Given the description of an element on the screen output the (x, y) to click on. 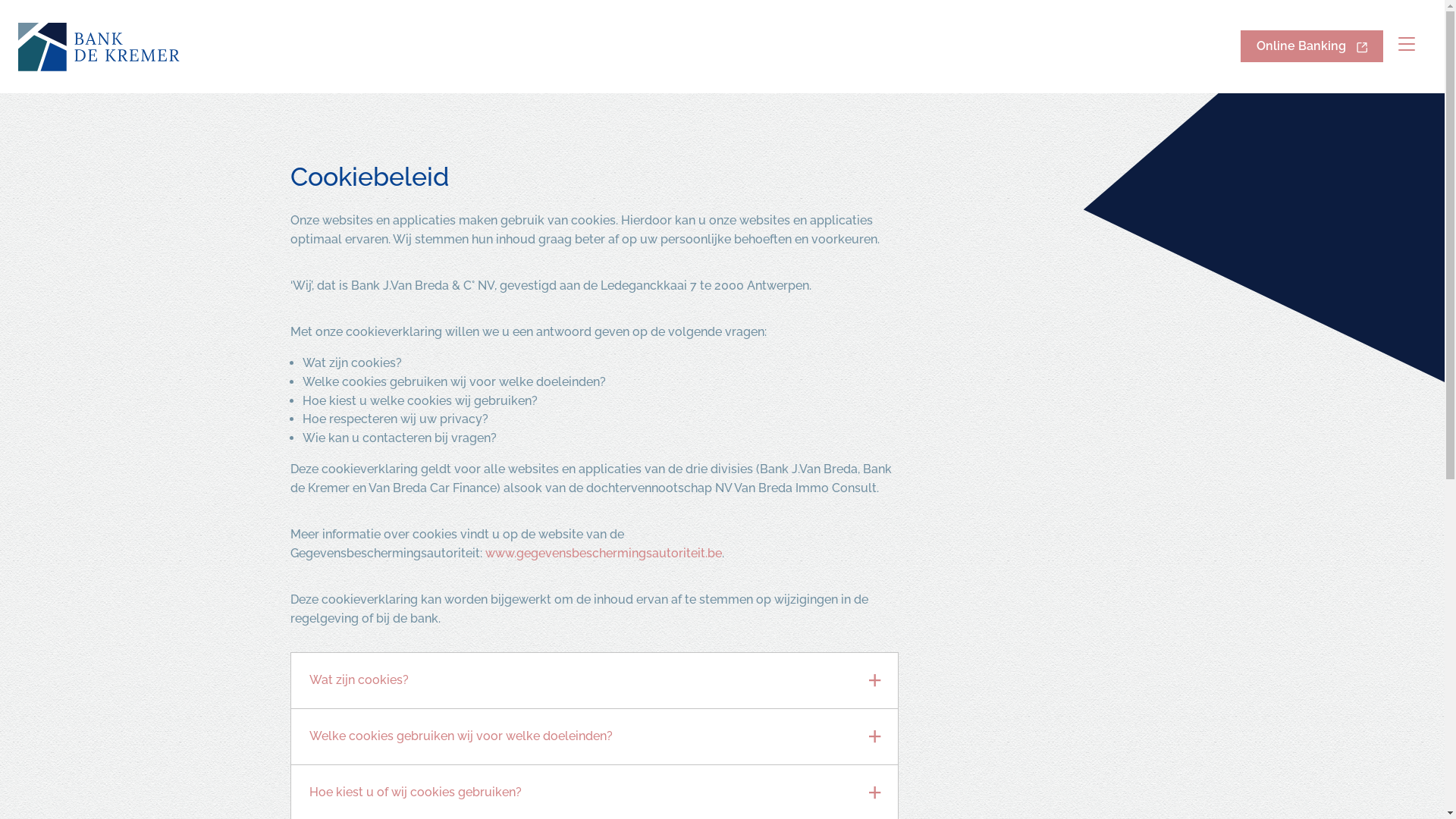
www.gegevensbeschermingsautoriteit.be Element type: text (603, 553)
Online Banking Element type: text (1311, 46)
